Given the description of an element on the screen output the (x, y) to click on. 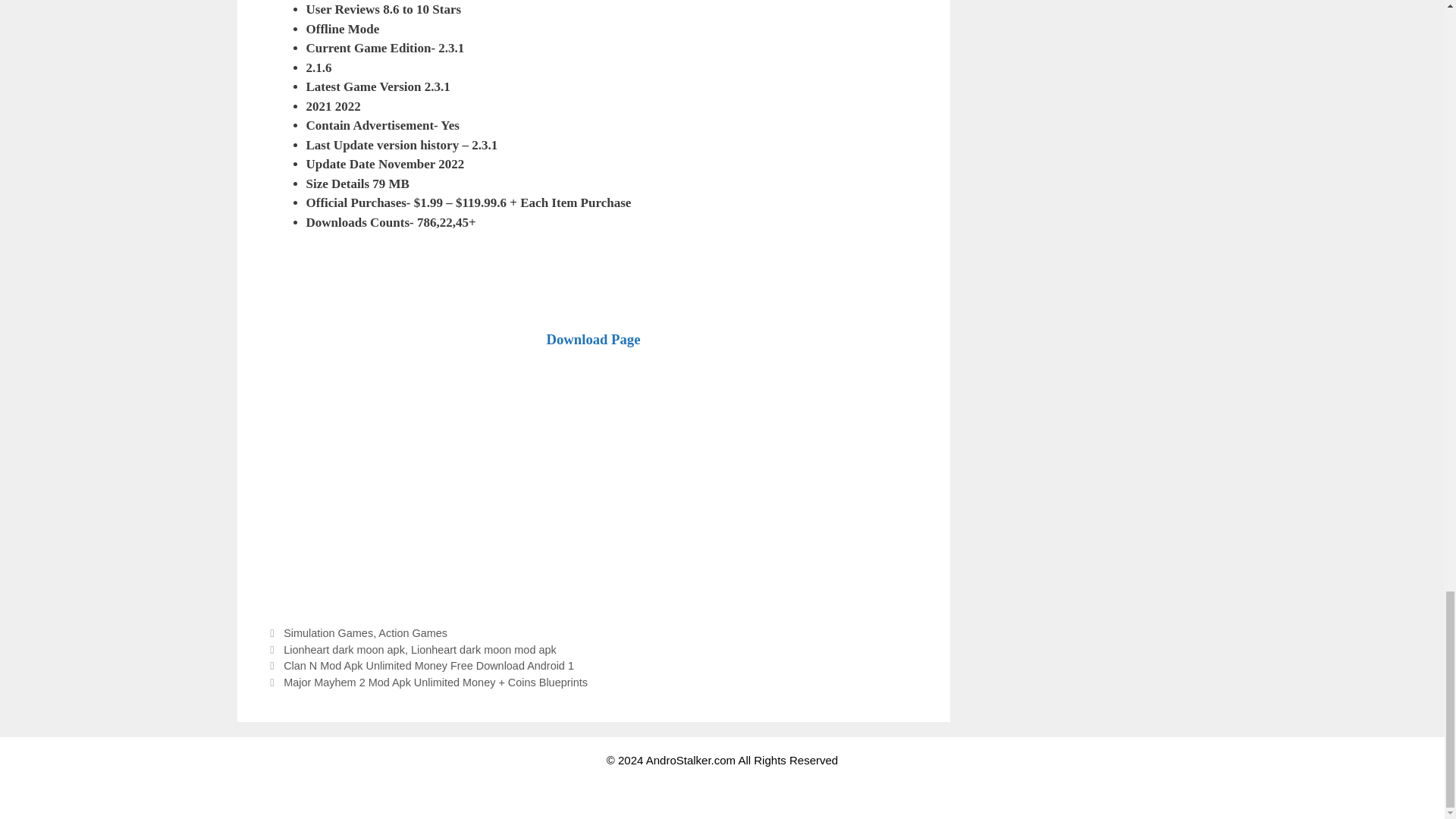
Action Games (412, 633)
Clan N Mod Apk Unlimited Money Free Download Android 1 (428, 665)
Download Page (593, 339)
Lionheart dark moon apk (343, 649)
Simulation Games (327, 633)
Lionheart dark moon mod apk (483, 649)
